Given the description of an element on the screen output the (x, y) to click on. 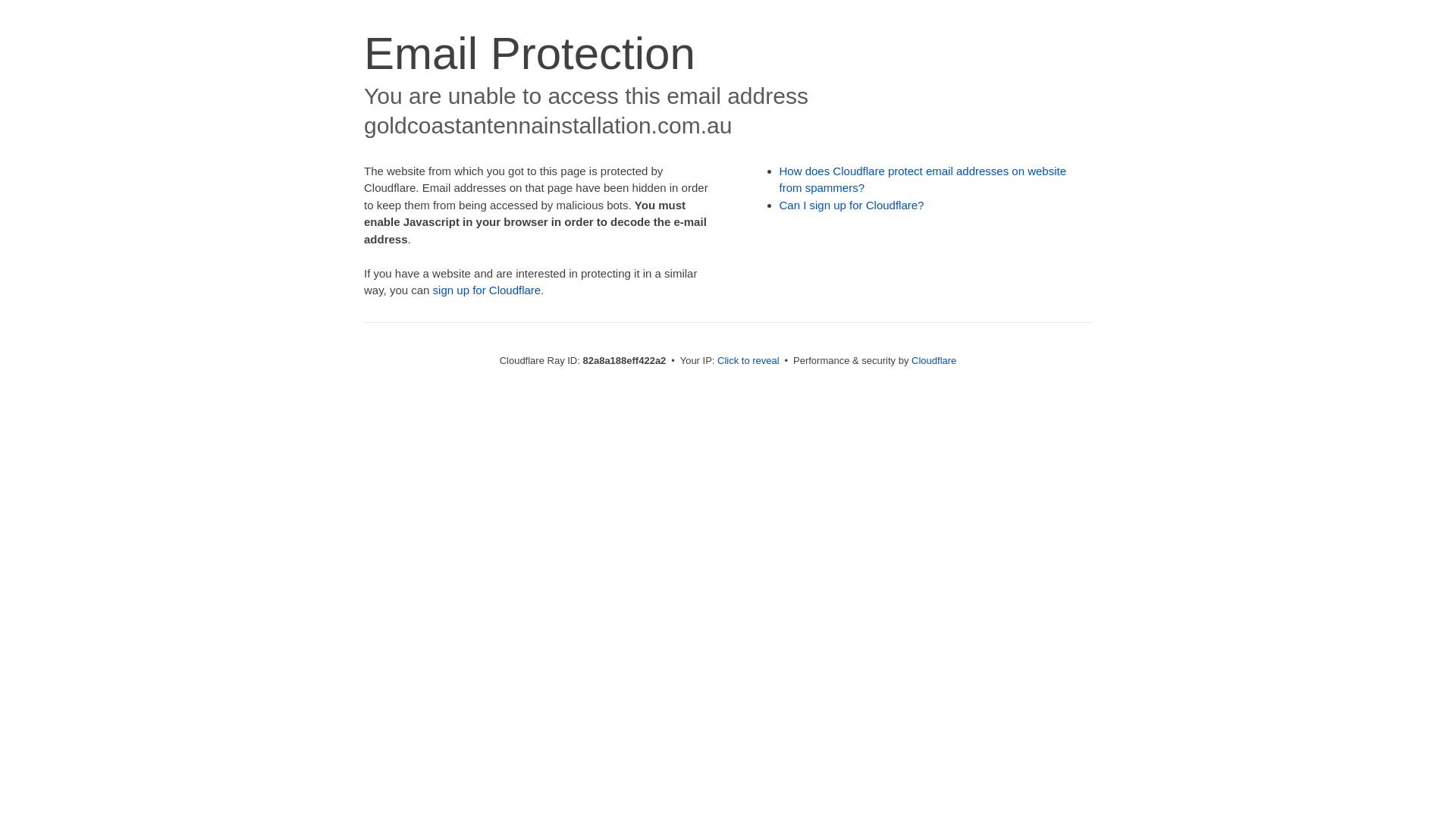
Can I sign up for Cloudflare? Element type: text (851, 204)
Cloudflare Element type: text (933, 360)
sign up for Cloudflare Element type: text (487, 289)
Click to reveal Element type: text (748, 360)
